Given the description of an element on the screen output the (x, y) to click on. 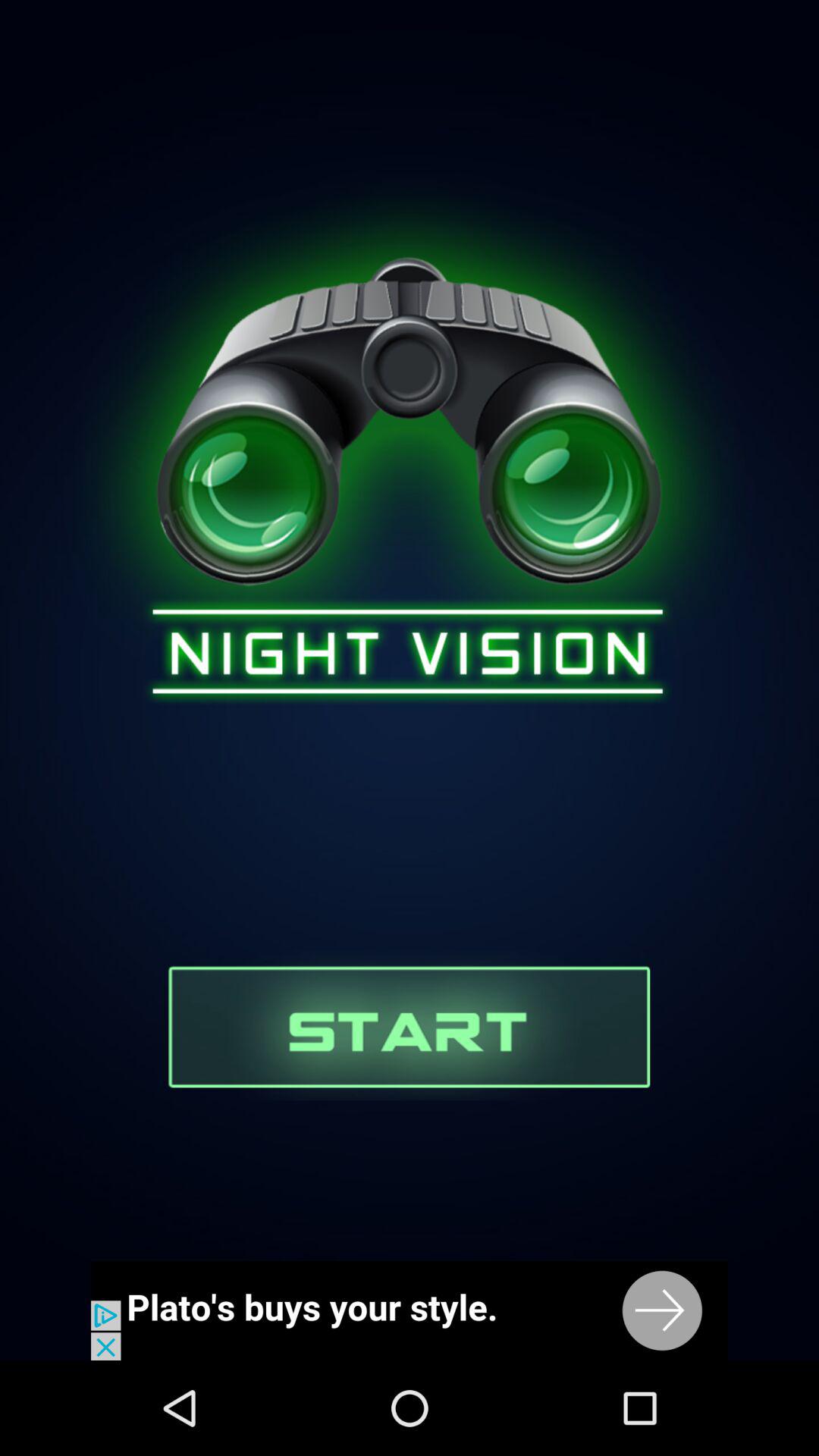
start night vision (409, 1024)
